Given the description of an element on the screen output the (x, y) to click on. 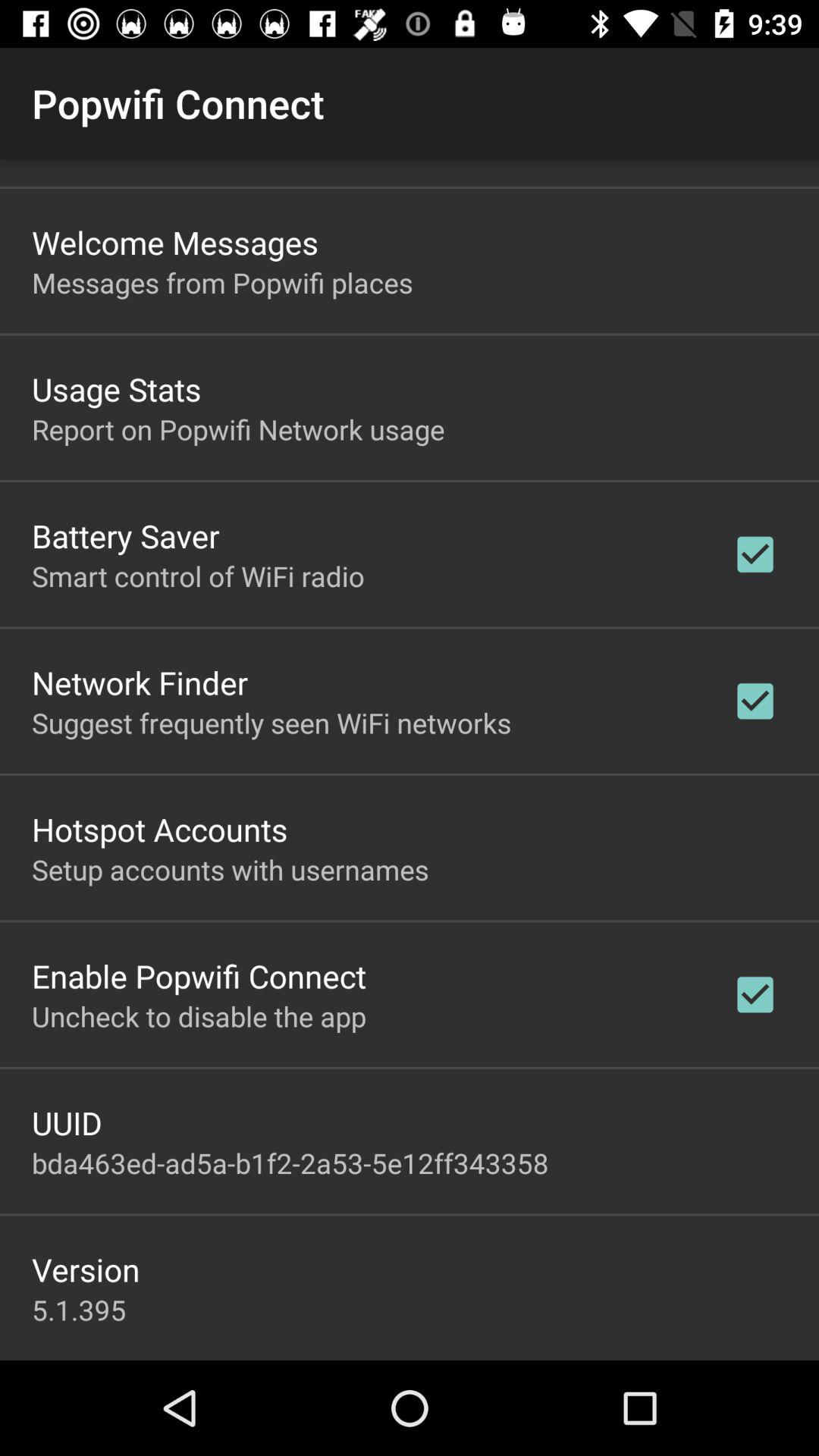
open the item below the version app (78, 1309)
